Given the description of an element on the screen output the (x, y) to click on. 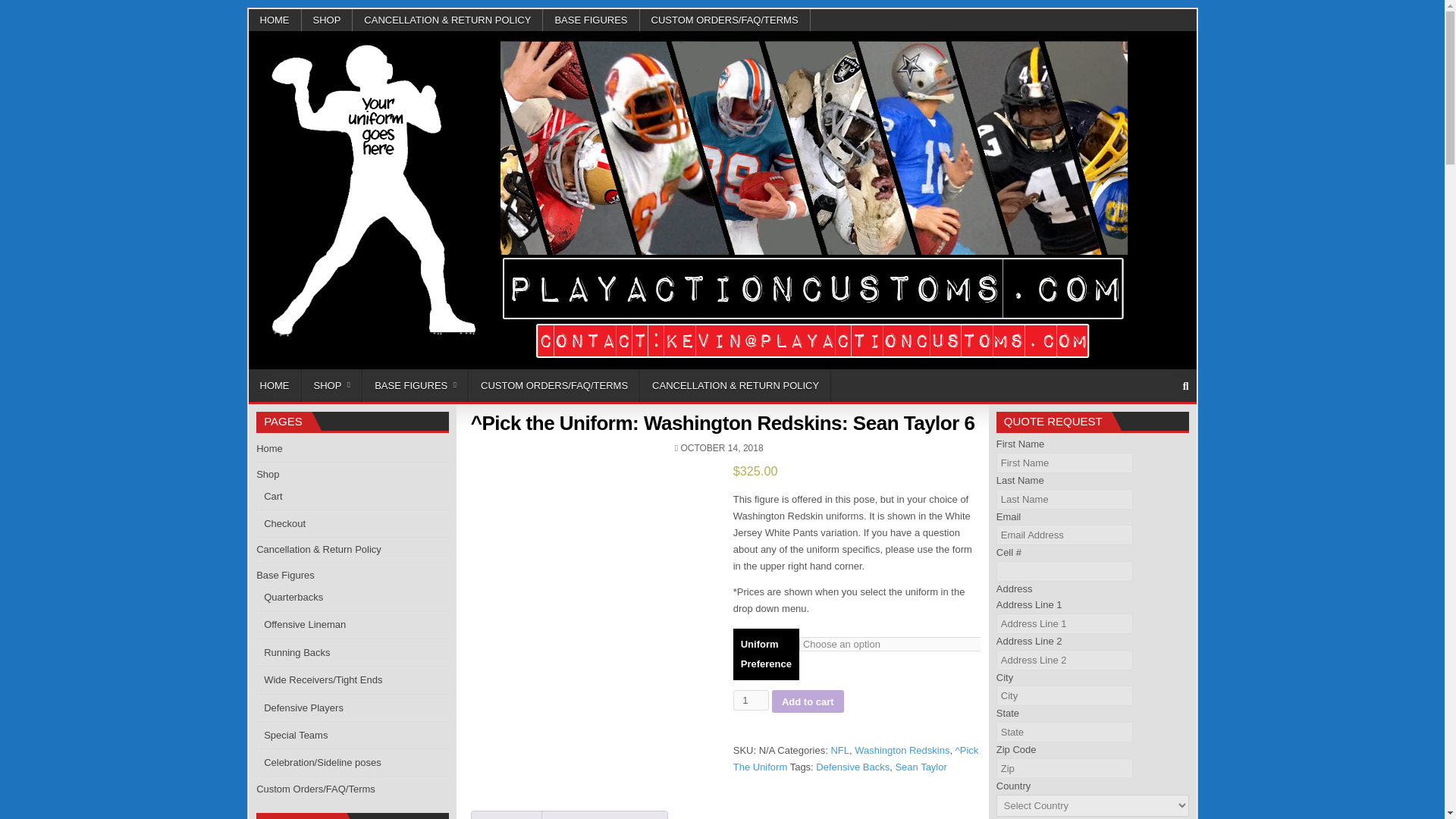
1 (750, 700)
BASE FIGURES (415, 385)
Add to cart (807, 700)
Washington Redskins (901, 749)
HOME (274, 20)
NFL (838, 749)
BASE FIGURES (591, 20)
HOME (274, 385)
SHOP (331, 385)
SHOP (327, 20)
